Given the description of an element on the screen output the (x, y) to click on. 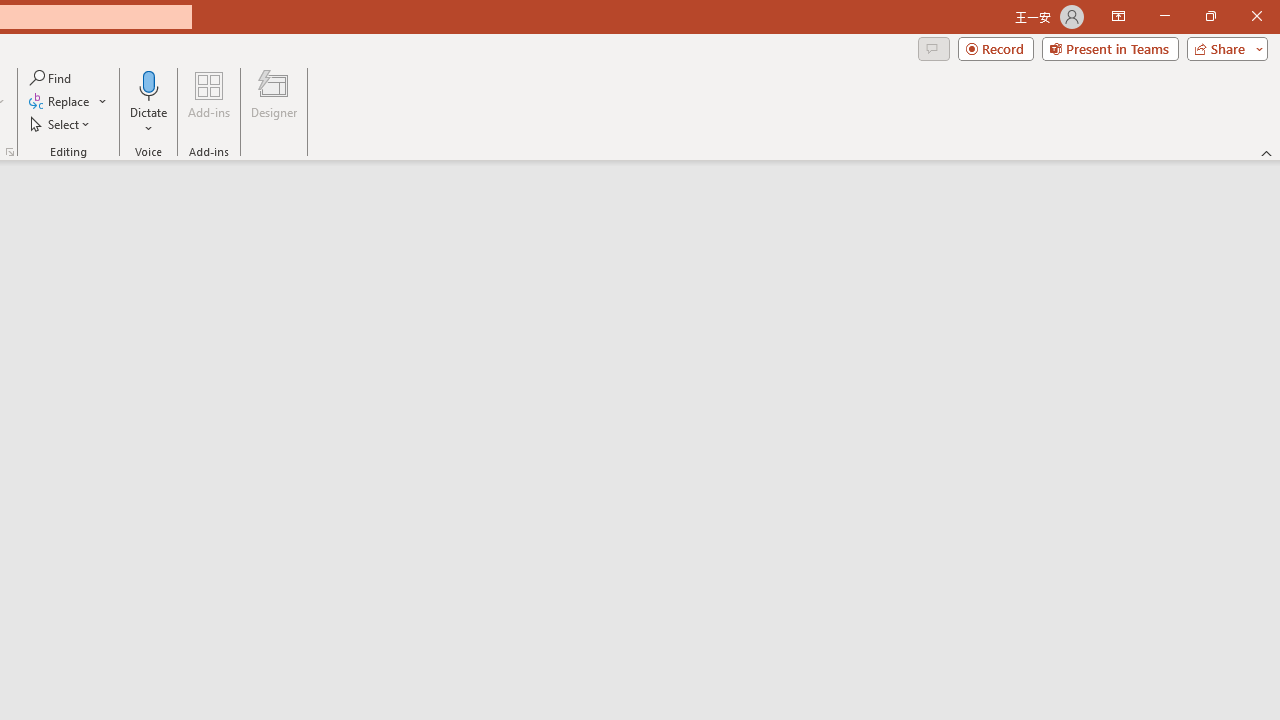
Select (61, 124)
Collapse the Ribbon (1267, 152)
Dictate (149, 102)
Minimize (1164, 16)
Restore Down (1210, 16)
Ribbon Display Options (1118, 16)
Comments (933, 48)
Format Object... (9, 151)
Share (1223, 48)
Close (1256, 16)
Replace... (68, 101)
Replace... (60, 101)
Find... (51, 78)
